Given the description of an element on the screen output the (x, y) to click on. 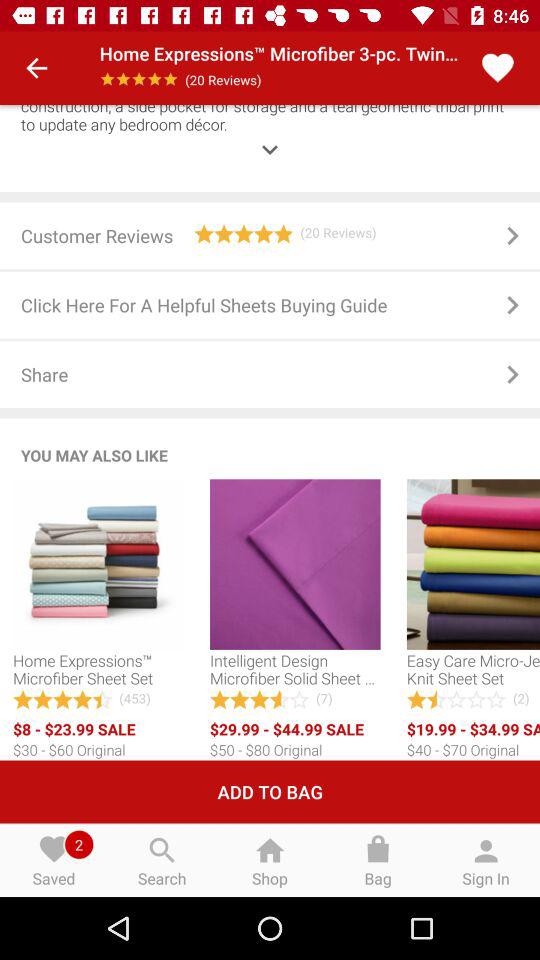
select the item next to the home expressions microfiber icon (36, 68)
